Given the description of an element on the screen output the (x, y) to click on. 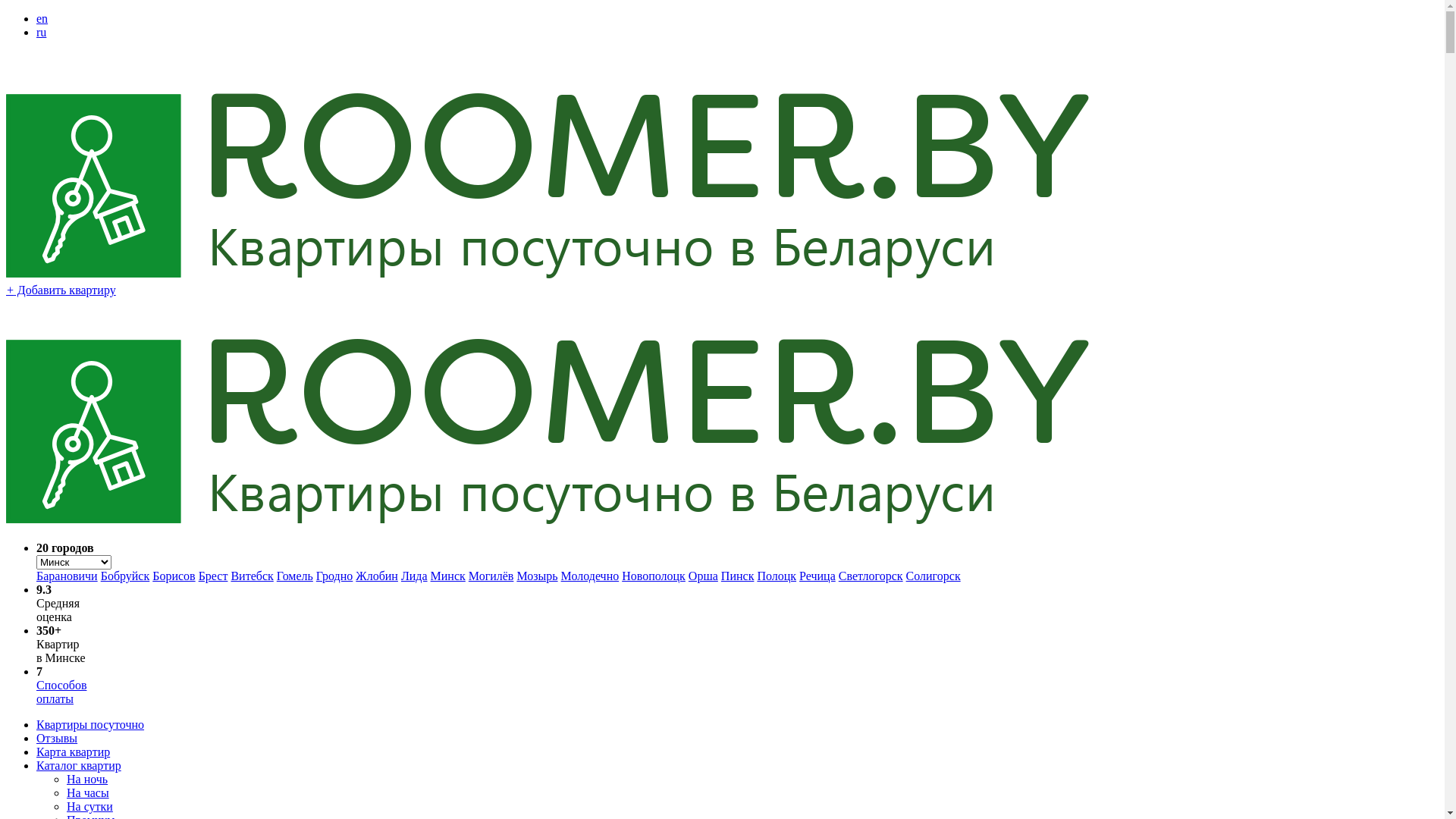
en Element type: text (41, 18)
ru Element type: text (41, 31)
